Given the description of an element on the screen output the (x, y) to click on. 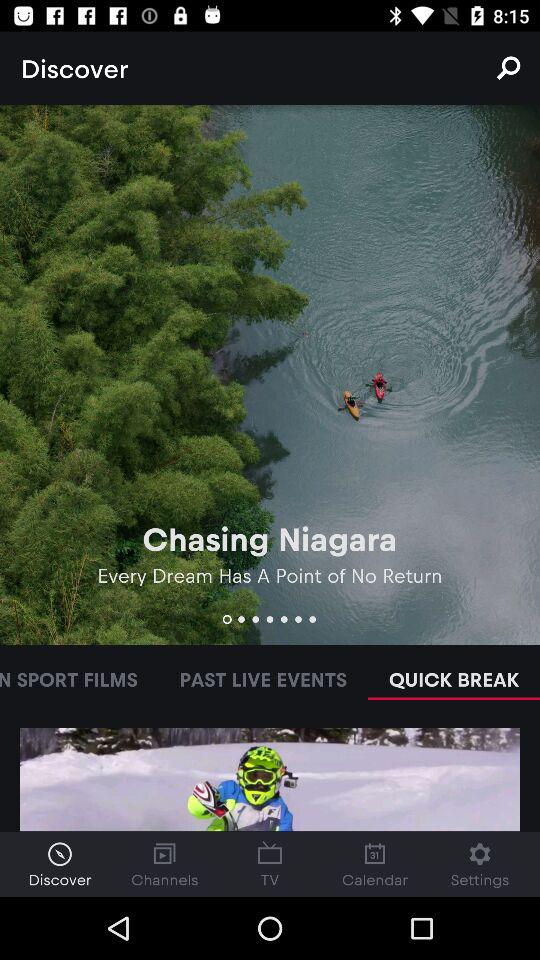
press item next to the discover (508, 67)
